Given the description of an element on the screen output the (x, y) to click on. 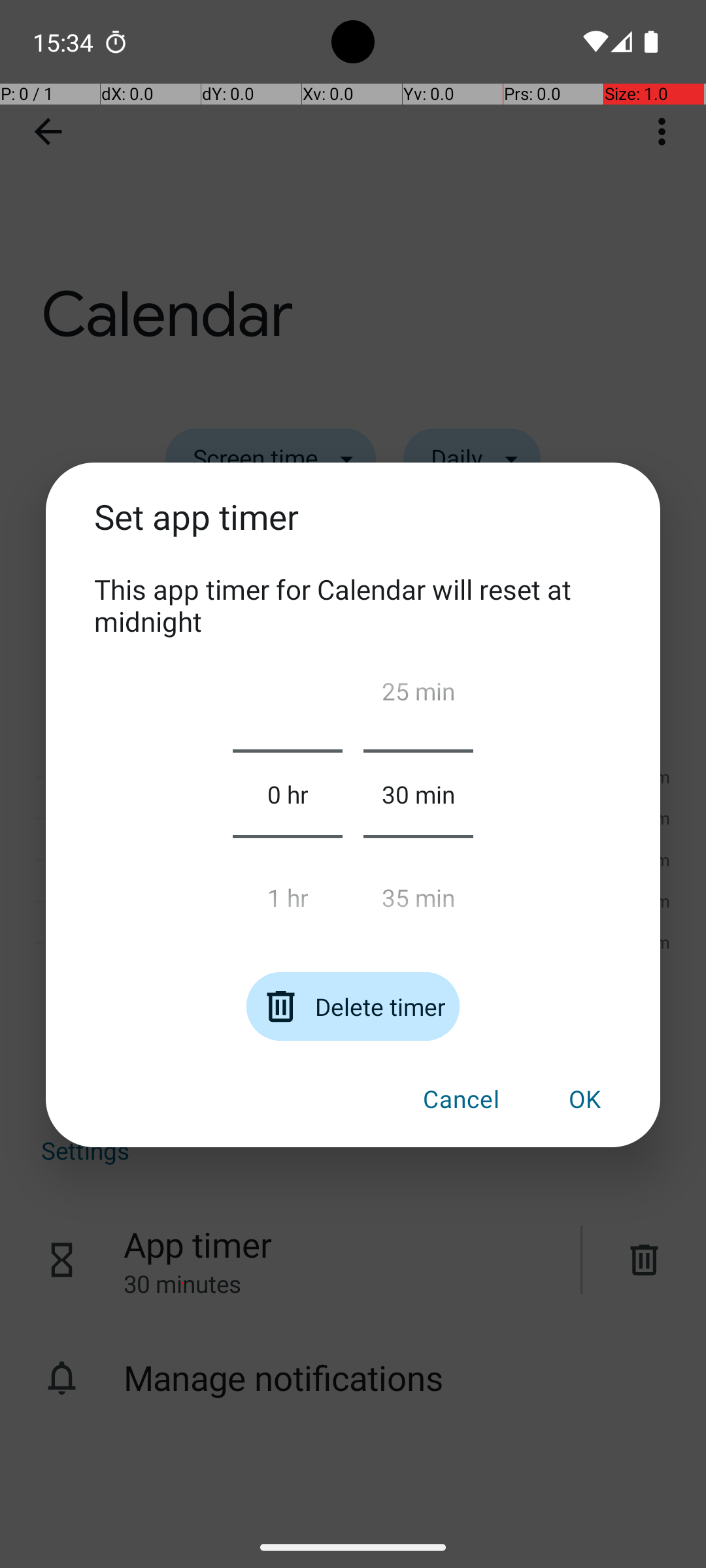
Set app timer Element type: android.widget.TextView (352, 531)
This app timer for Calendar will reset at midnight Element type: android.widget.TextView (352, 604)
Delete timer Element type: android.widget.Button (352, 1006)
0 hr Element type: android.widget.EditText (287, 793)
1 hr Element type: android.widget.Button (287, 891)
25 min Element type: android.widget.Button (418, 695)
30 min Element type: android.widget.EditText (418, 793)
35 min Element type: android.widget.Button (418, 891)
